Given the description of an element on the screen output the (x, y) to click on. 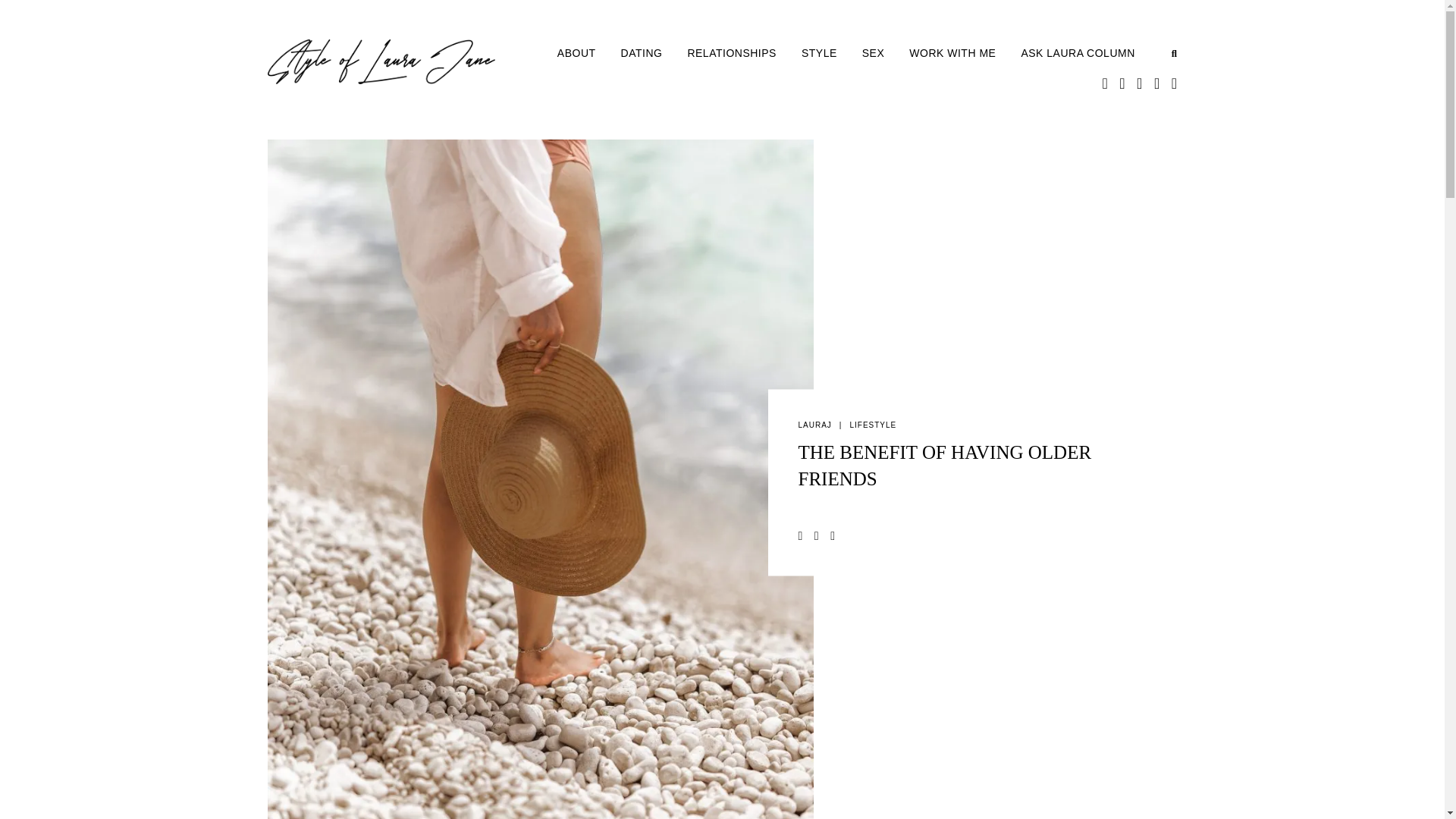
LIFESTYLE (876, 428)
SEX (885, 53)
DATING (654, 53)
ASK LAURA COLUMN (1089, 53)
STYLE (831, 53)
RELATIONSHIPS (744, 53)
LAURAJ (817, 428)
ABOUT (589, 53)
WORK WITH ME (964, 53)
